Given the description of an element on the screen output the (x, y) to click on. 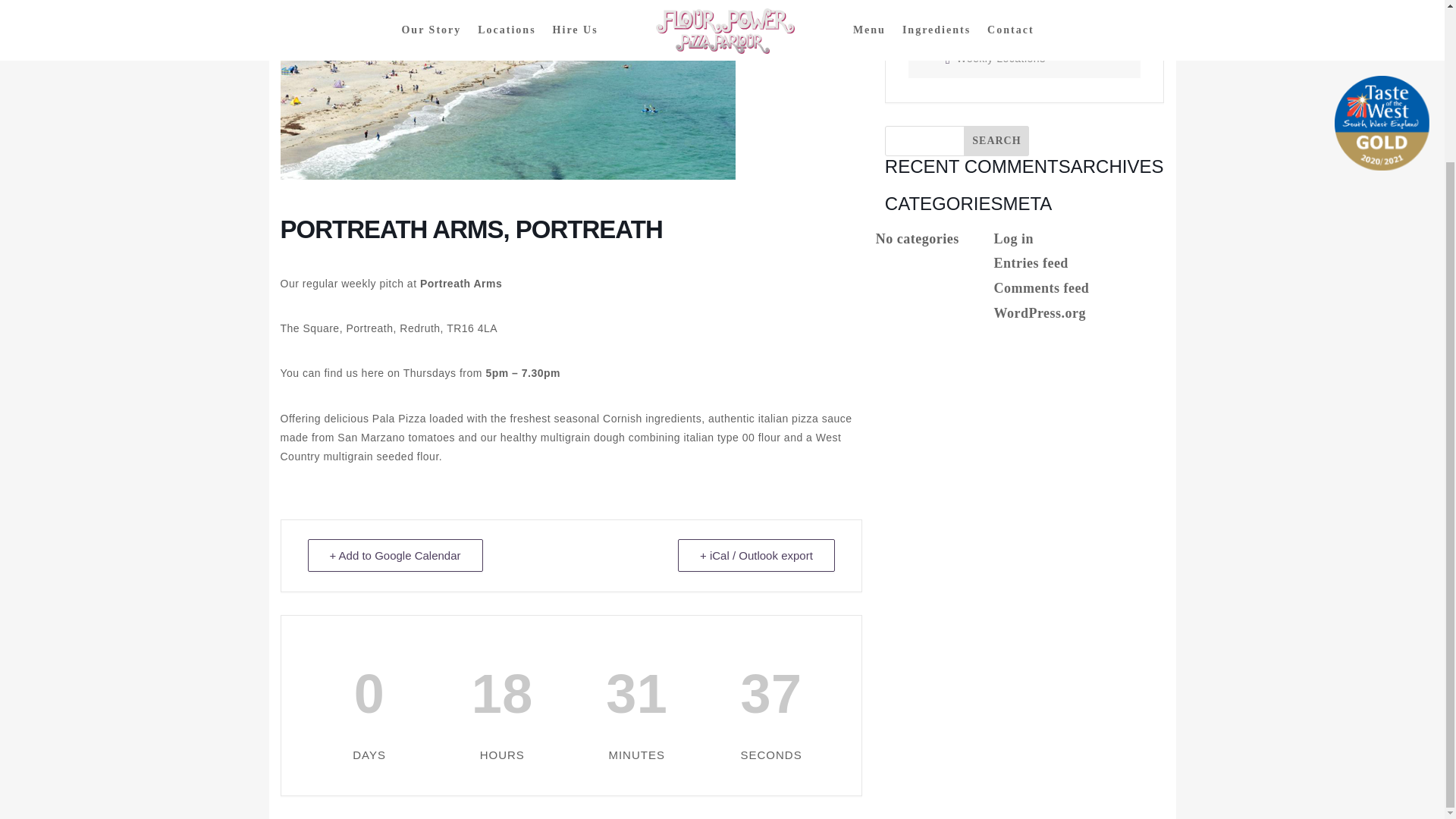
Weekly Locations (994, 58)
Log in (1012, 238)
WordPress.org (1039, 313)
Comments feed (1040, 287)
Search (996, 141)
Entries feed (1029, 263)
Search (996, 141)
